Given the description of an element on the screen output the (x, y) to click on. 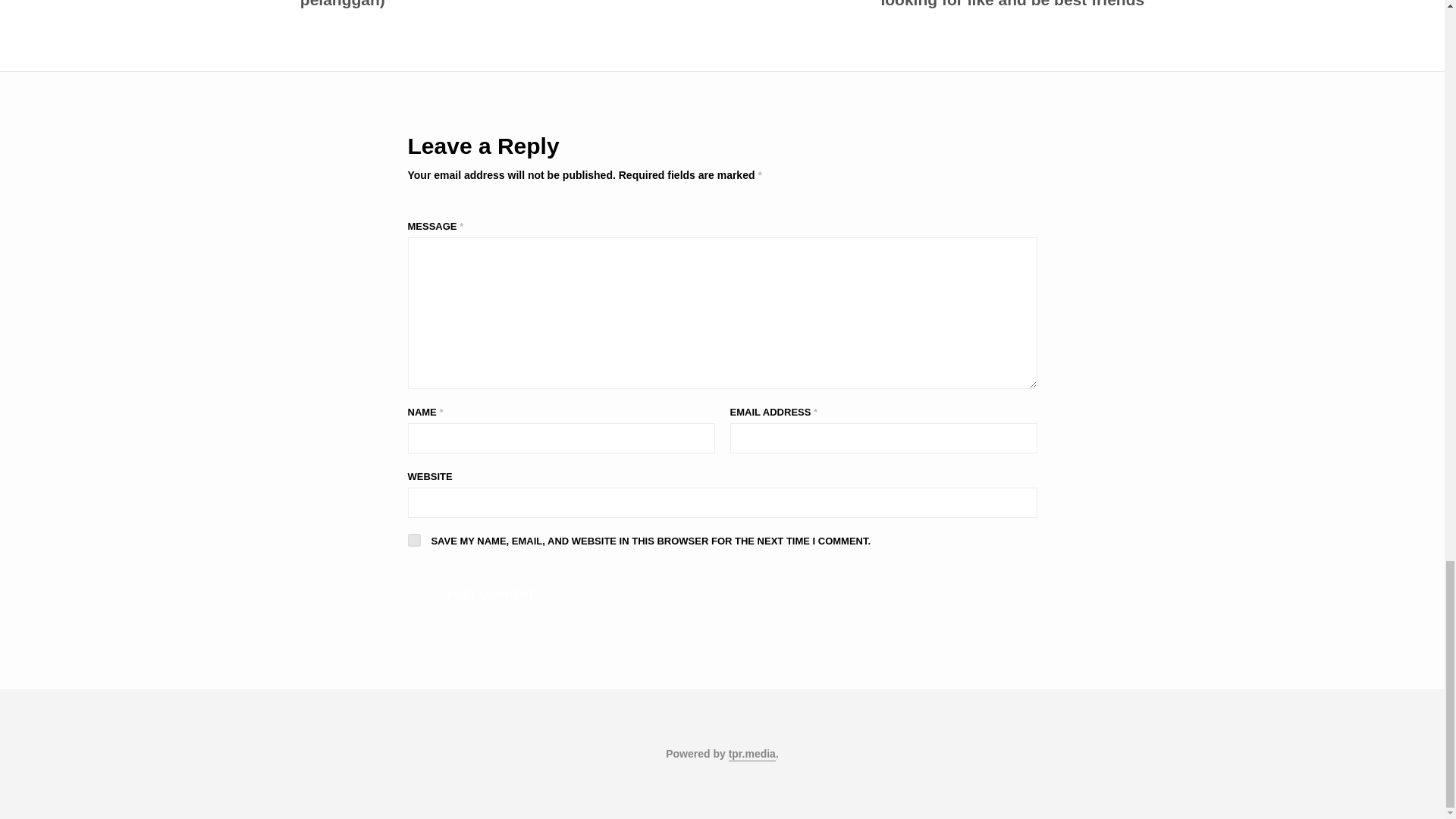
Post Comment (491, 594)
tpr.media (752, 754)
yes (413, 540)
Post Comment (491, 594)
tpr.media (752, 754)
